Given the description of an element on the screen output the (x, y) to click on. 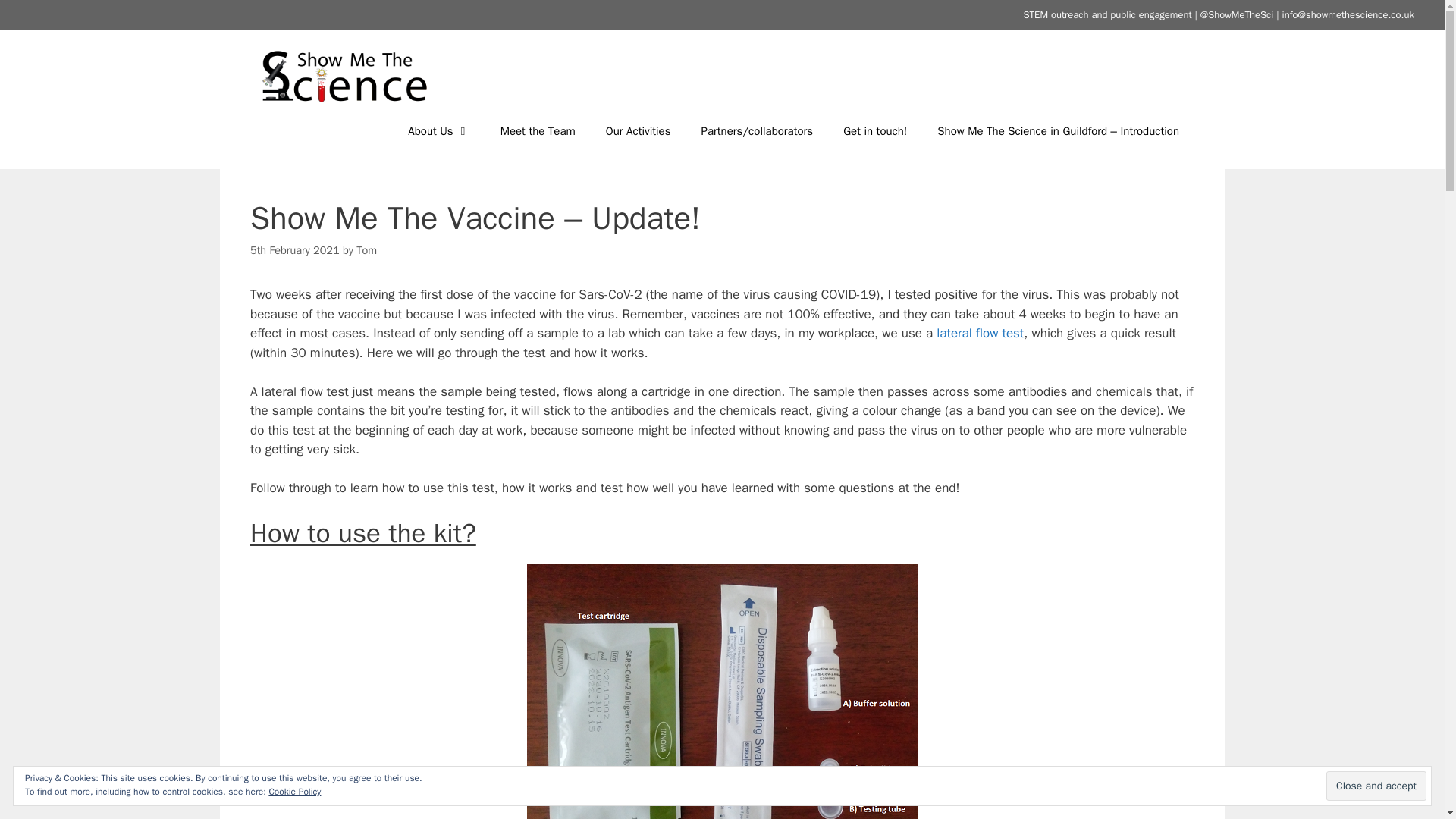
Get in touch! (874, 130)
lateral flow test (979, 333)
Our Activities (638, 130)
Meet the Team (537, 130)
View all posts by Tom (366, 250)
About Us (438, 130)
Tom (366, 250)
Close and accept (1376, 785)
